Given the description of an element on the screen output the (x, y) to click on. 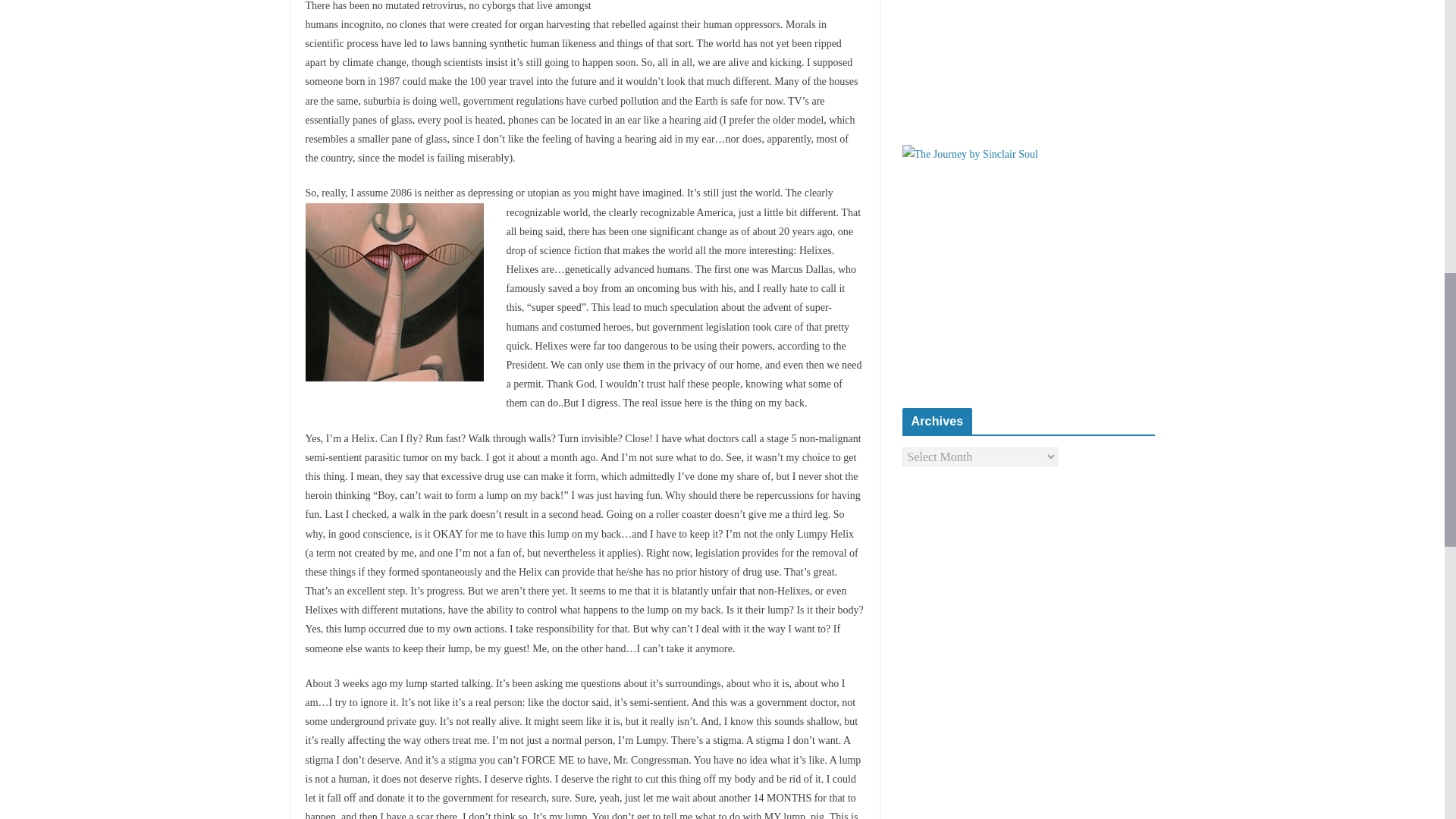
The Journey by Sinclair Soul (970, 153)
